Given the description of an element on the screen output the (x, y) to click on. 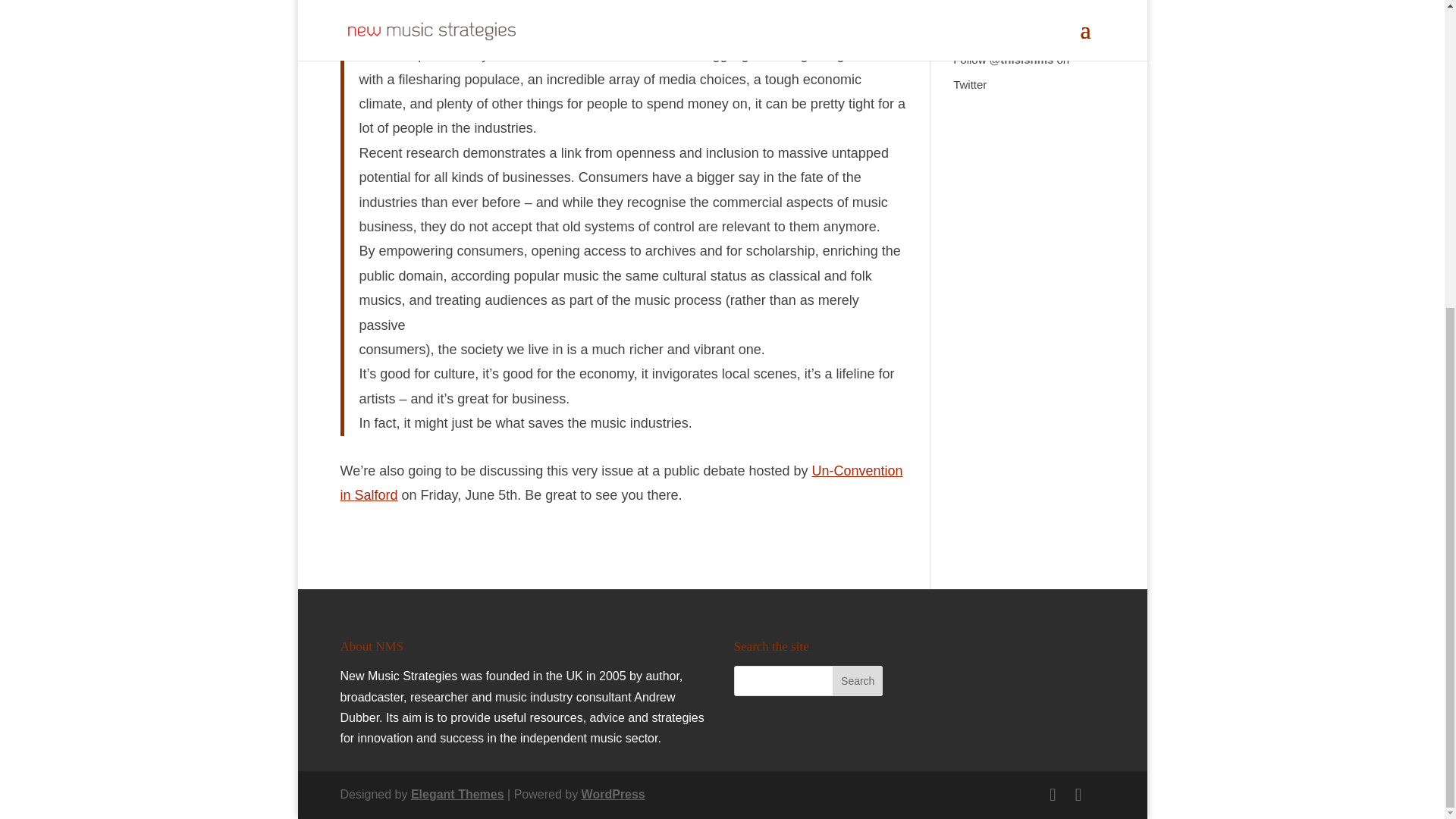
Search (857, 680)
Elegant Themes (456, 793)
Un-Convention in Salford (620, 482)
Search (857, 680)
Premium WordPress Themes (456, 793)
WordPress (612, 793)
